Given the description of an element on the screen output the (x, y) to click on. 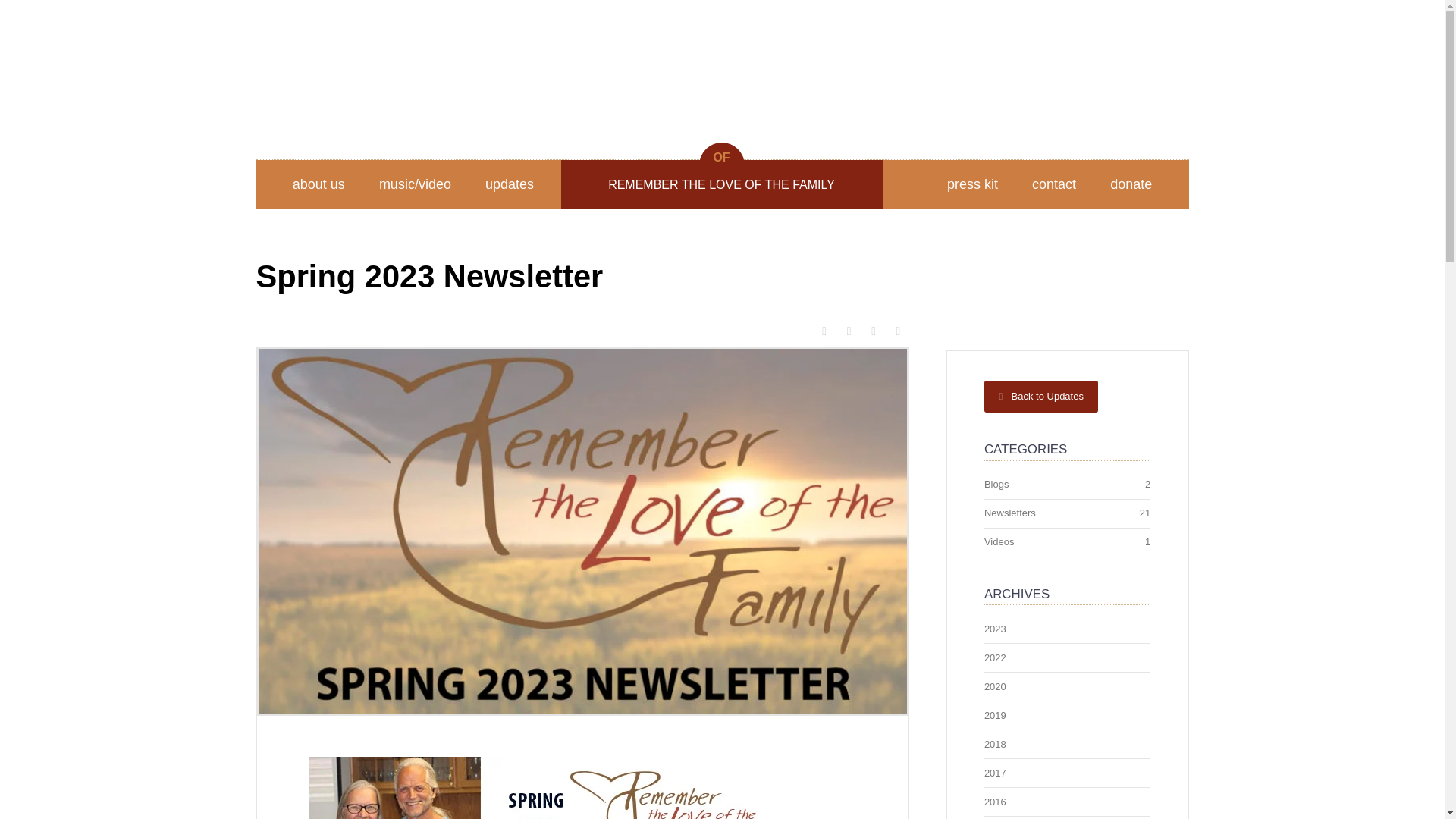
2016 (995, 801)
about us (318, 184)
Back to Updates (1041, 396)
Newsletters (1009, 512)
2020 (995, 686)
2023 (995, 628)
2022 (995, 657)
2017 (995, 772)
Blogs (996, 483)
Videos (999, 541)
